Given the description of an element on the screen output the (x, y) to click on. 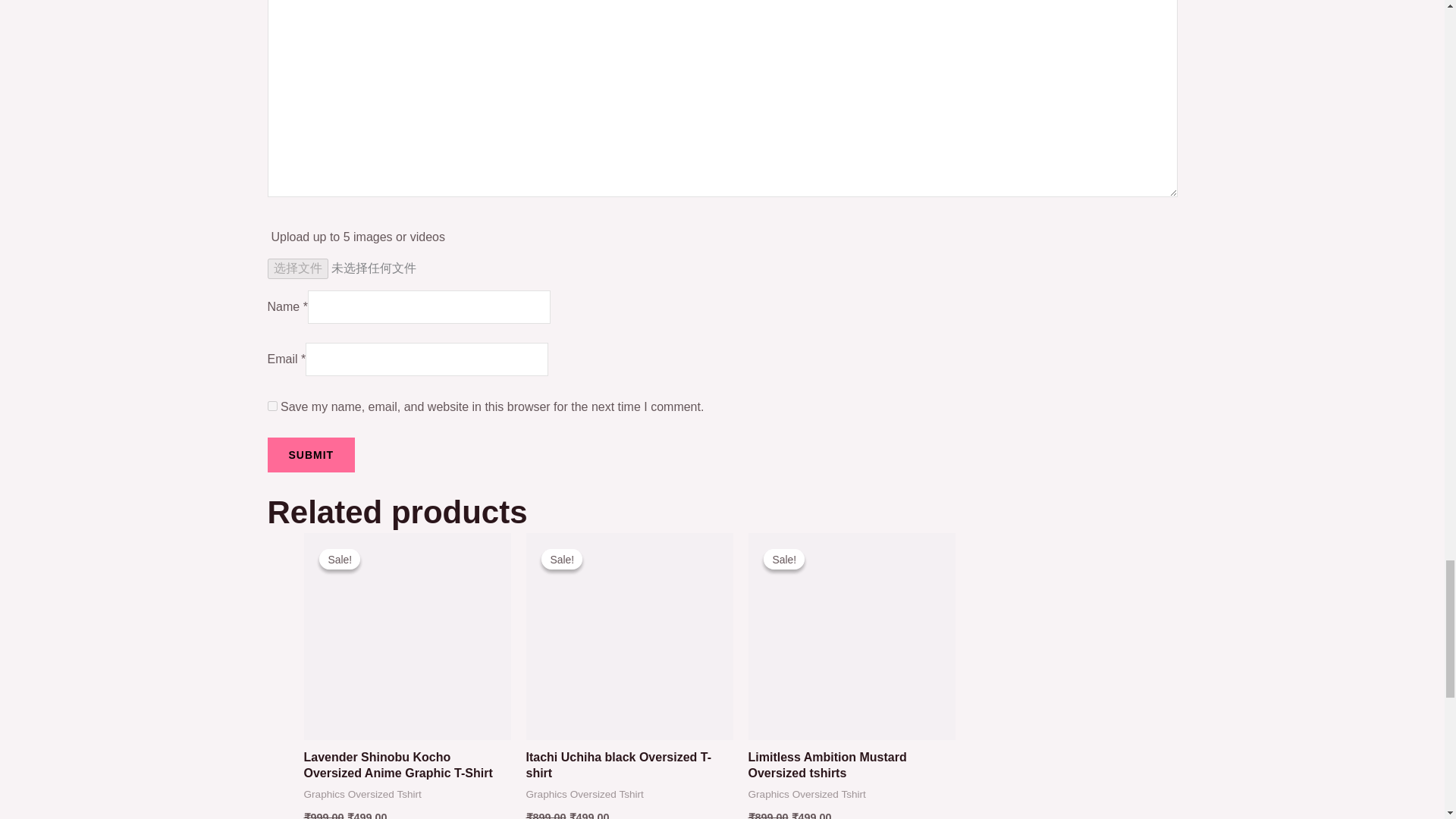
yes (271, 406)
Submit (310, 454)
